Given the description of an element on the screen output the (x, y) to click on. 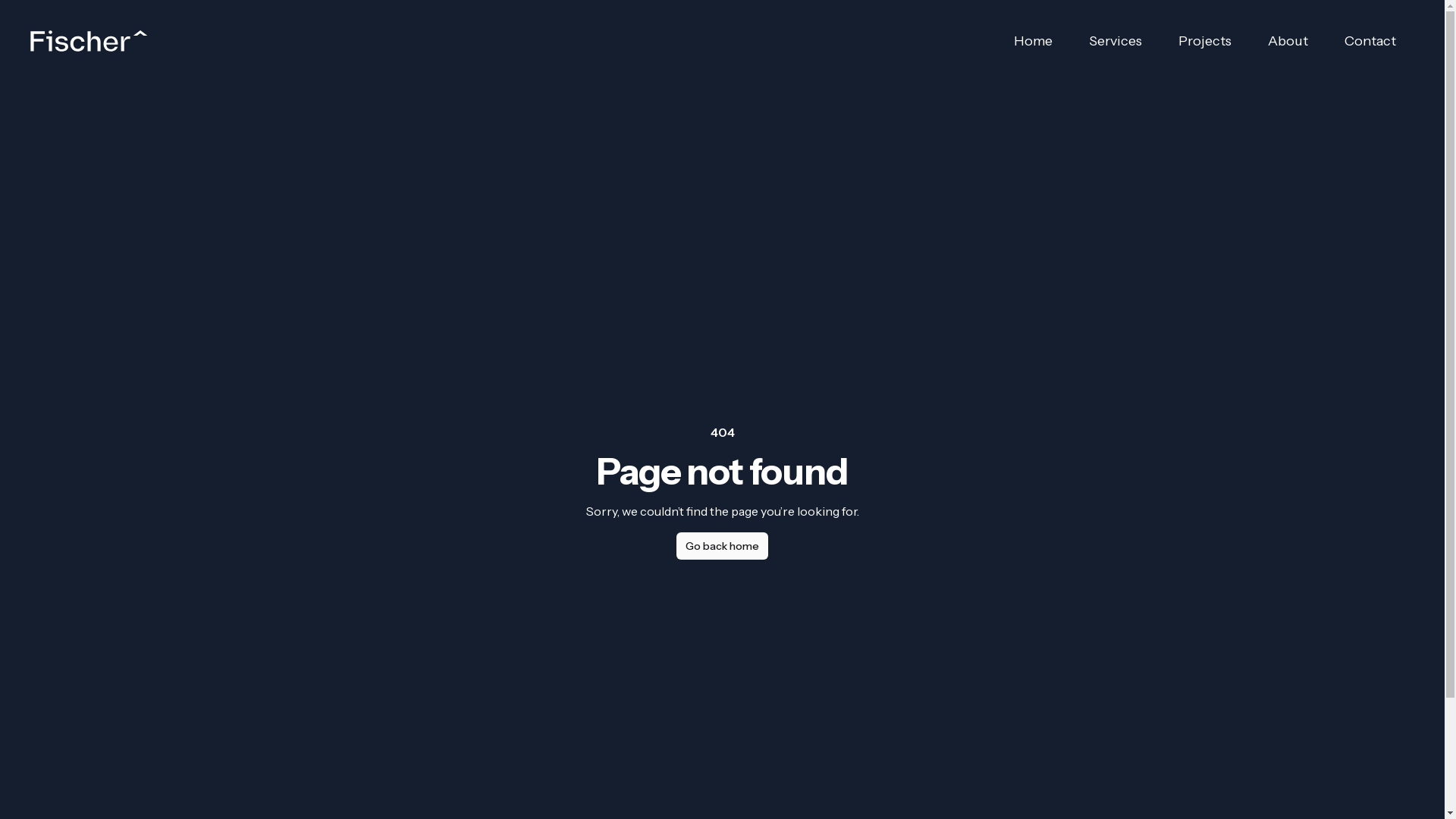
Go back home Element type: text (722, 545)
About Element type: text (1287, 40)
Projects Element type: text (1204, 40)
Contact Element type: text (1370, 40)
Home Element type: text (1032, 40)
Services Element type: text (1115, 40)
